Given the description of an element on the screen output the (x, y) to click on. 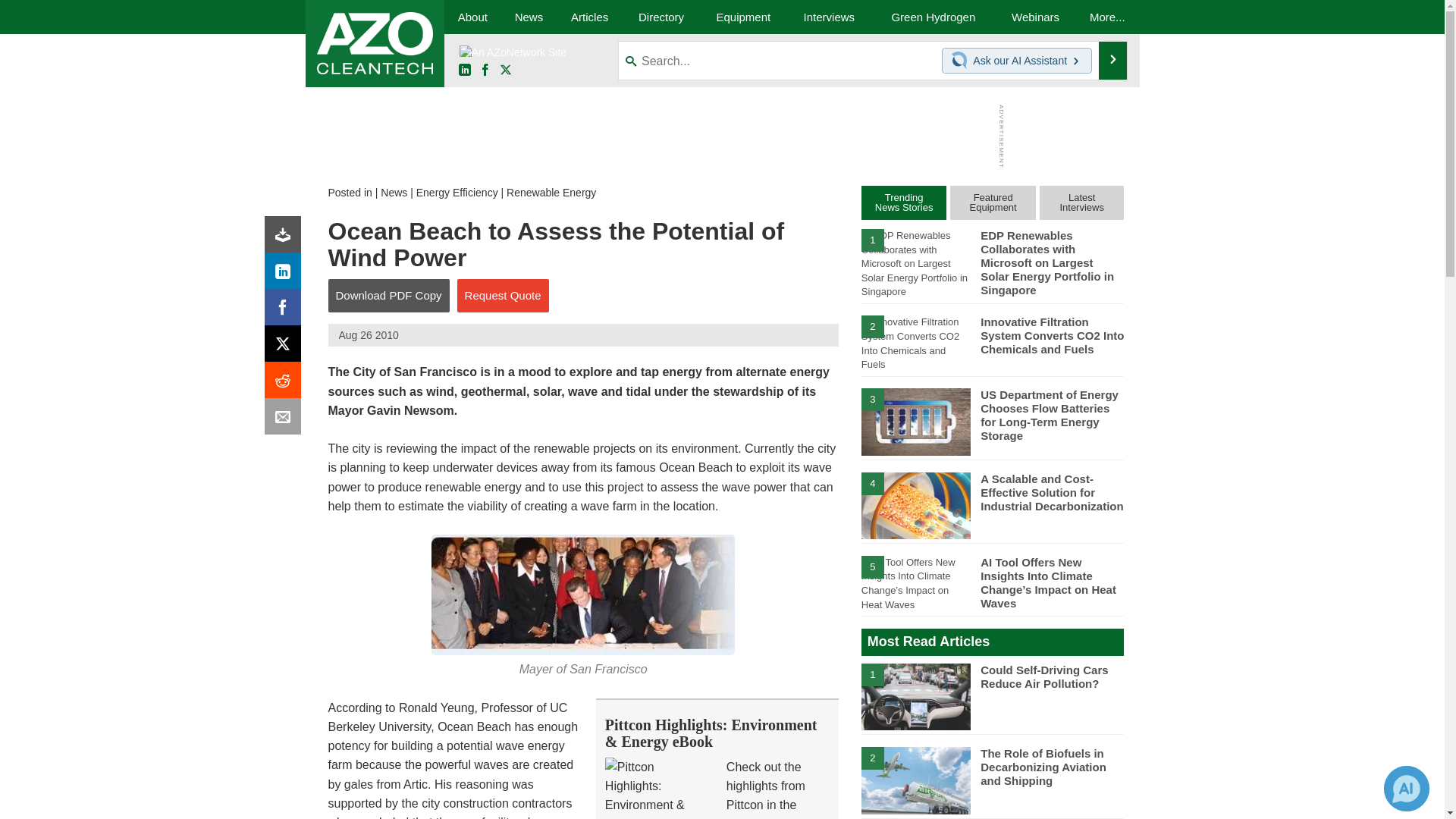
LinkedIn (464, 70)
Directory (660, 17)
Articles (589, 17)
Facebook (485, 70)
LinkedIn (285, 275)
Green Hydrogen (932, 17)
Chat with our AI Assistant Ask our AI Assistant (1017, 60)
News (528, 17)
Energy Efficiency (456, 192)
